Given the description of an element on the screen output the (x, y) to click on. 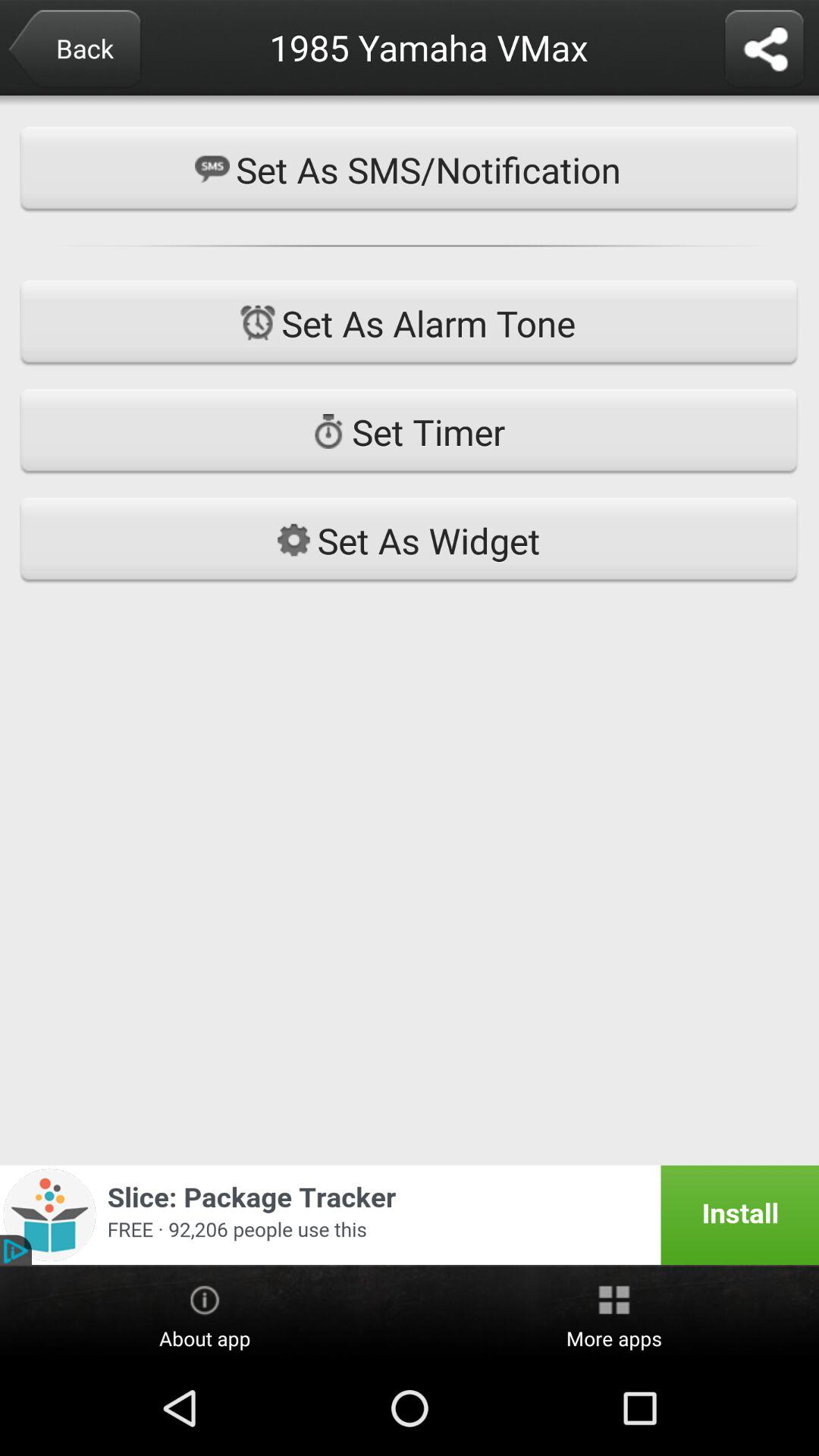
select icon at the bottom right corner (614, 1314)
